Given the description of an element on the screen output the (x, y) to click on. 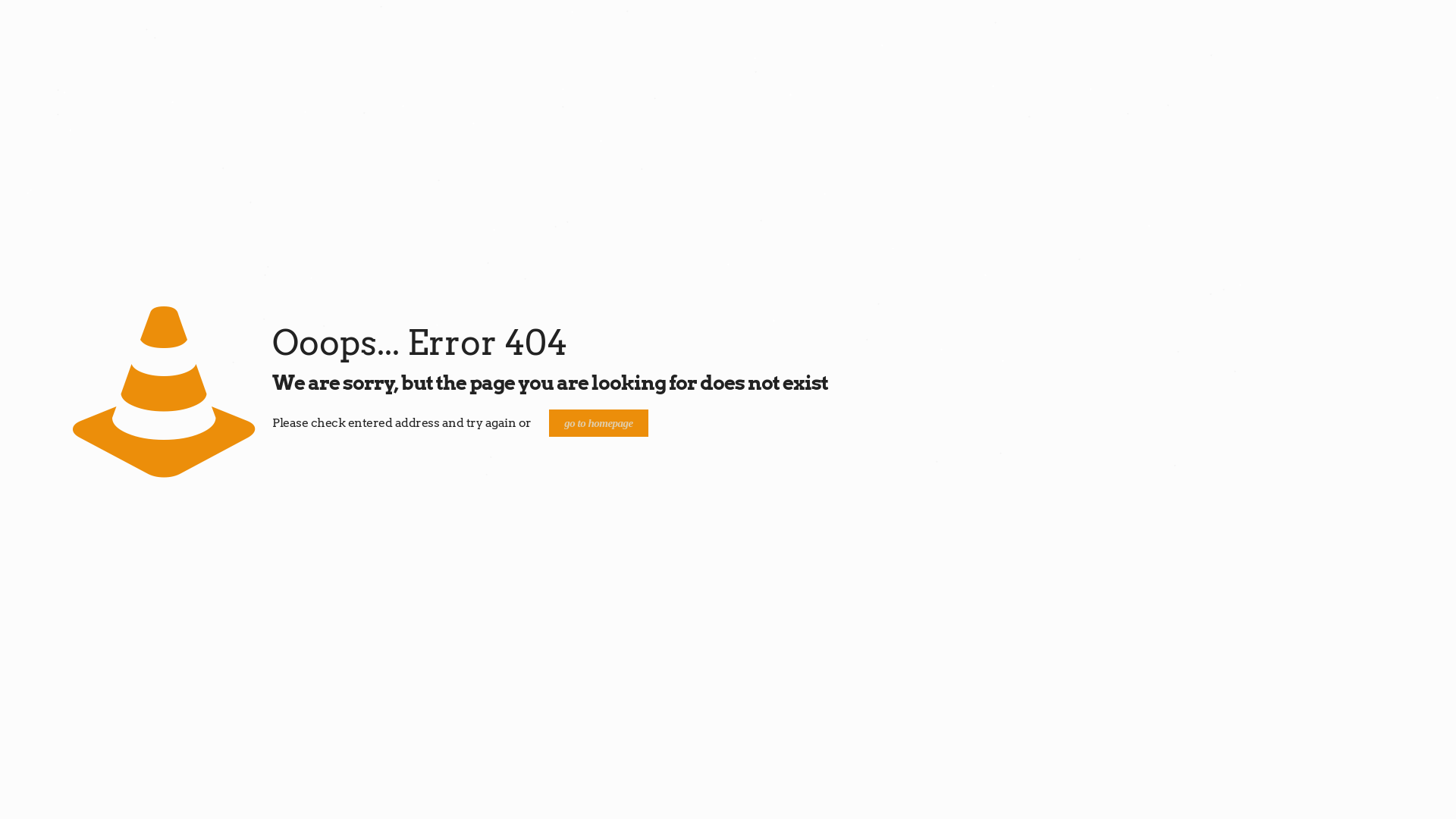
go to homepage Element type: text (598, 422)
